Given the description of an element on the screen output the (x, y) to click on. 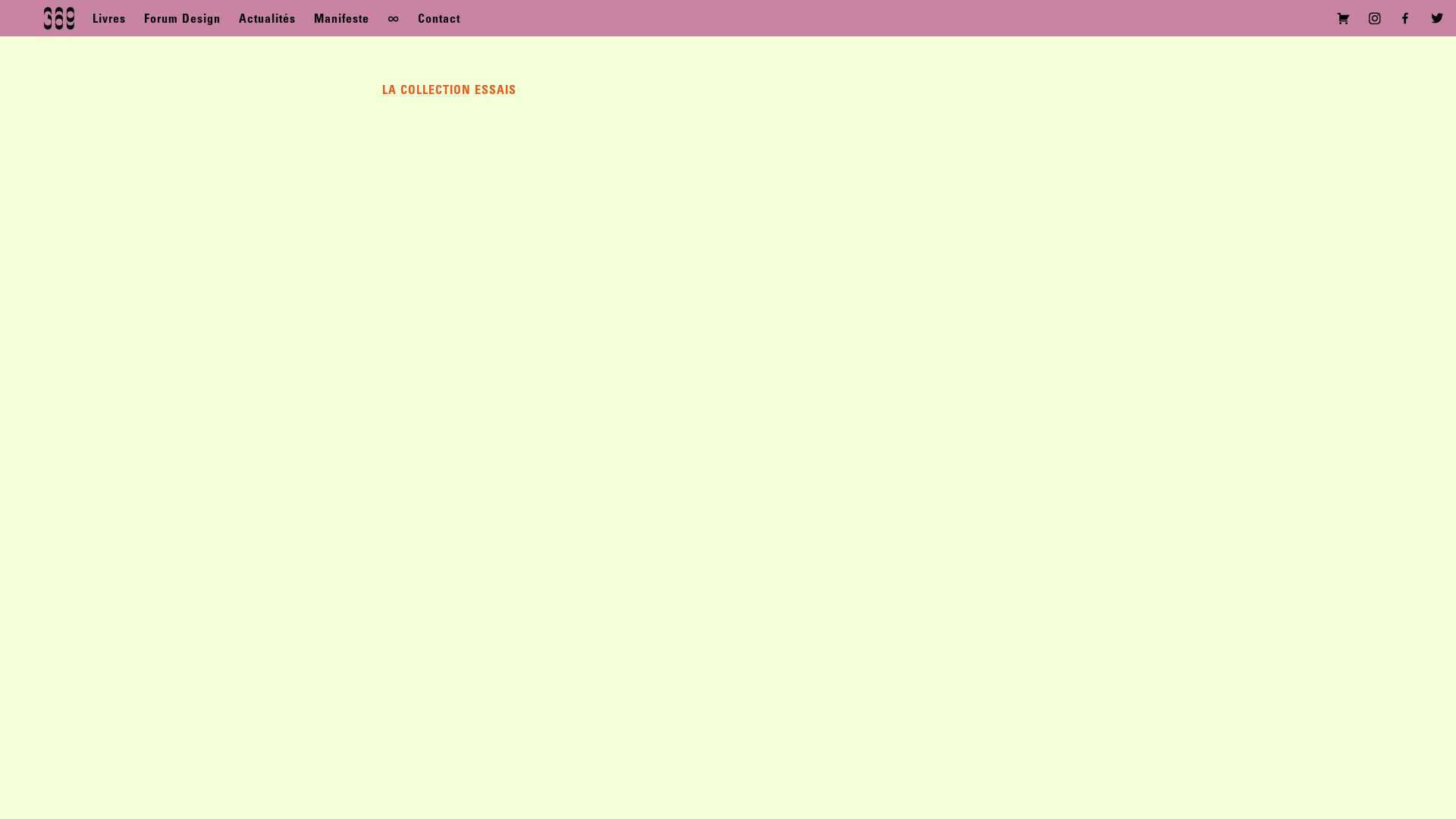
Contact Element type: text (438, 19)
Manifeste Element type: text (341, 19)
Livres Element type: text (108, 19)
Forum Design Element type: text (182, 19)
Voir votre panier Element type: hover (1345, 19)
